Given the description of an element on the screen output the (x, y) to click on. 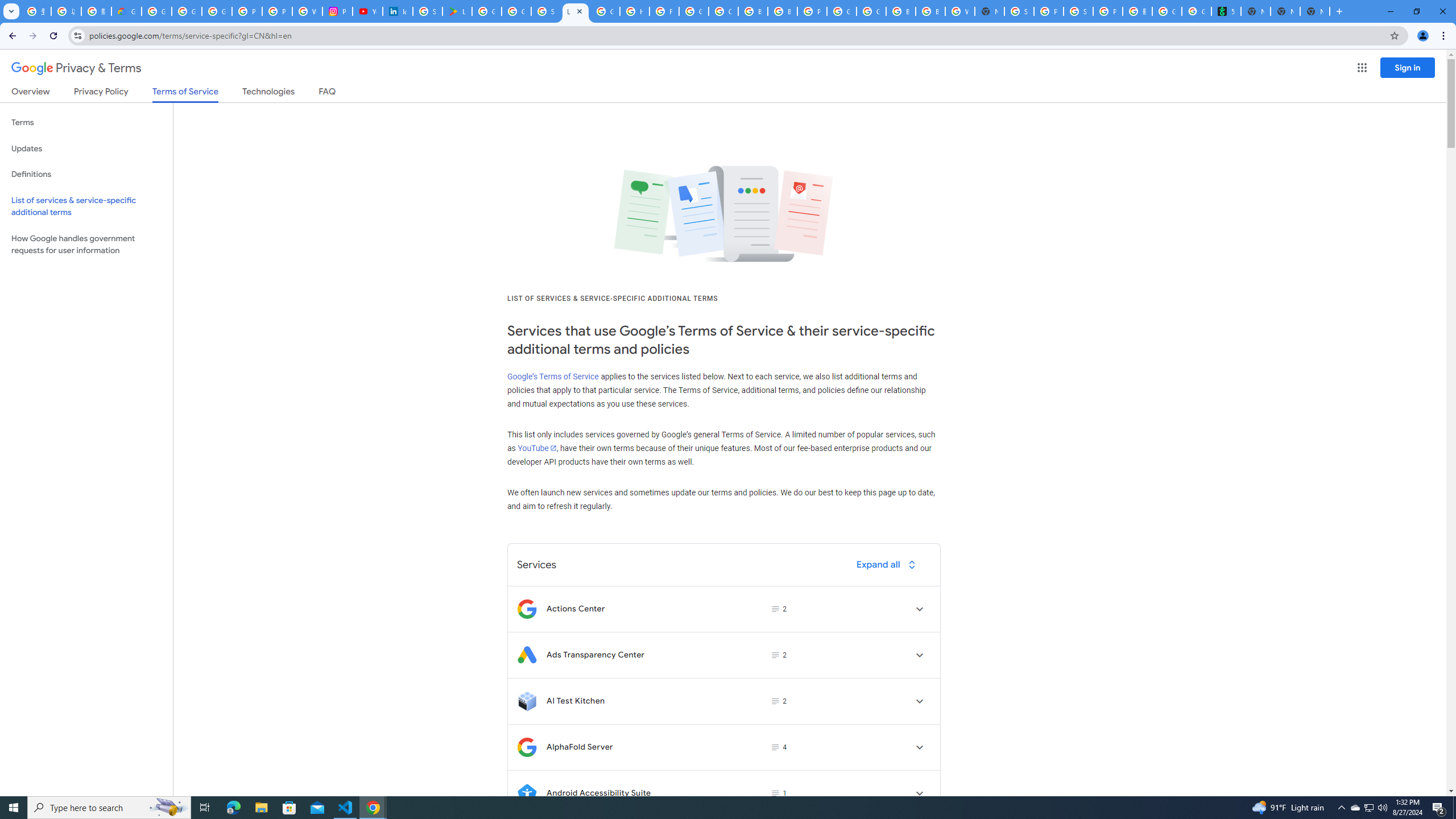
How do I create a new Google Account? - Google Account Help (634, 11)
Search tabs (10, 11)
Sign in - Google Accounts (426, 11)
Reload (52, 35)
Sign in - Google Accounts (1018, 11)
Restore (1416, 11)
Chrome (1445, 35)
Google Cloud Platform (841, 11)
You (1422, 35)
